Given the description of an element on the screen output the (x, y) to click on. 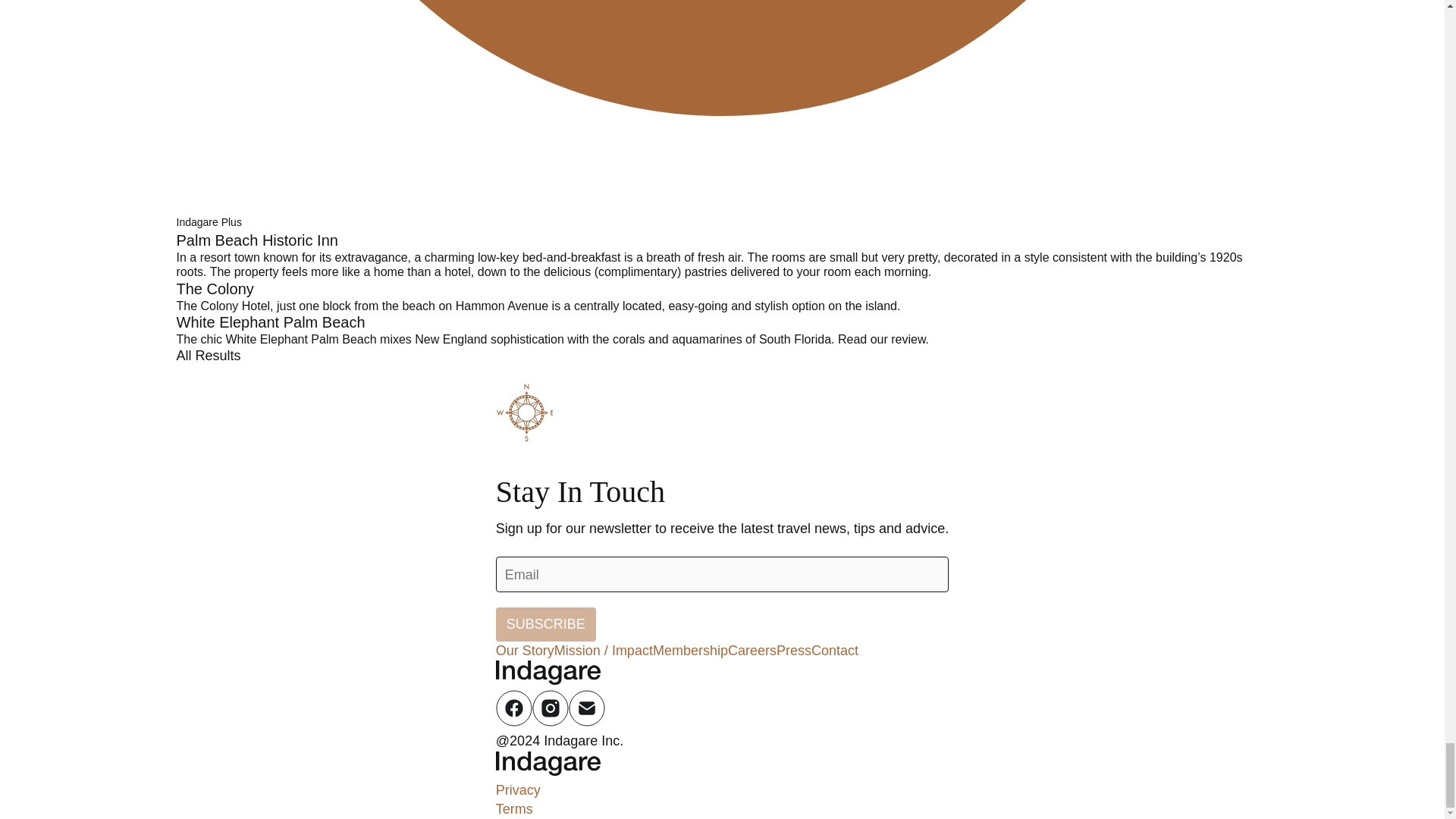
SUBSCRIBE (545, 624)
Press (793, 650)
Membership (690, 650)
Our Story (525, 650)
Careers (752, 650)
